Given the description of an element on the screen output the (x, y) to click on. 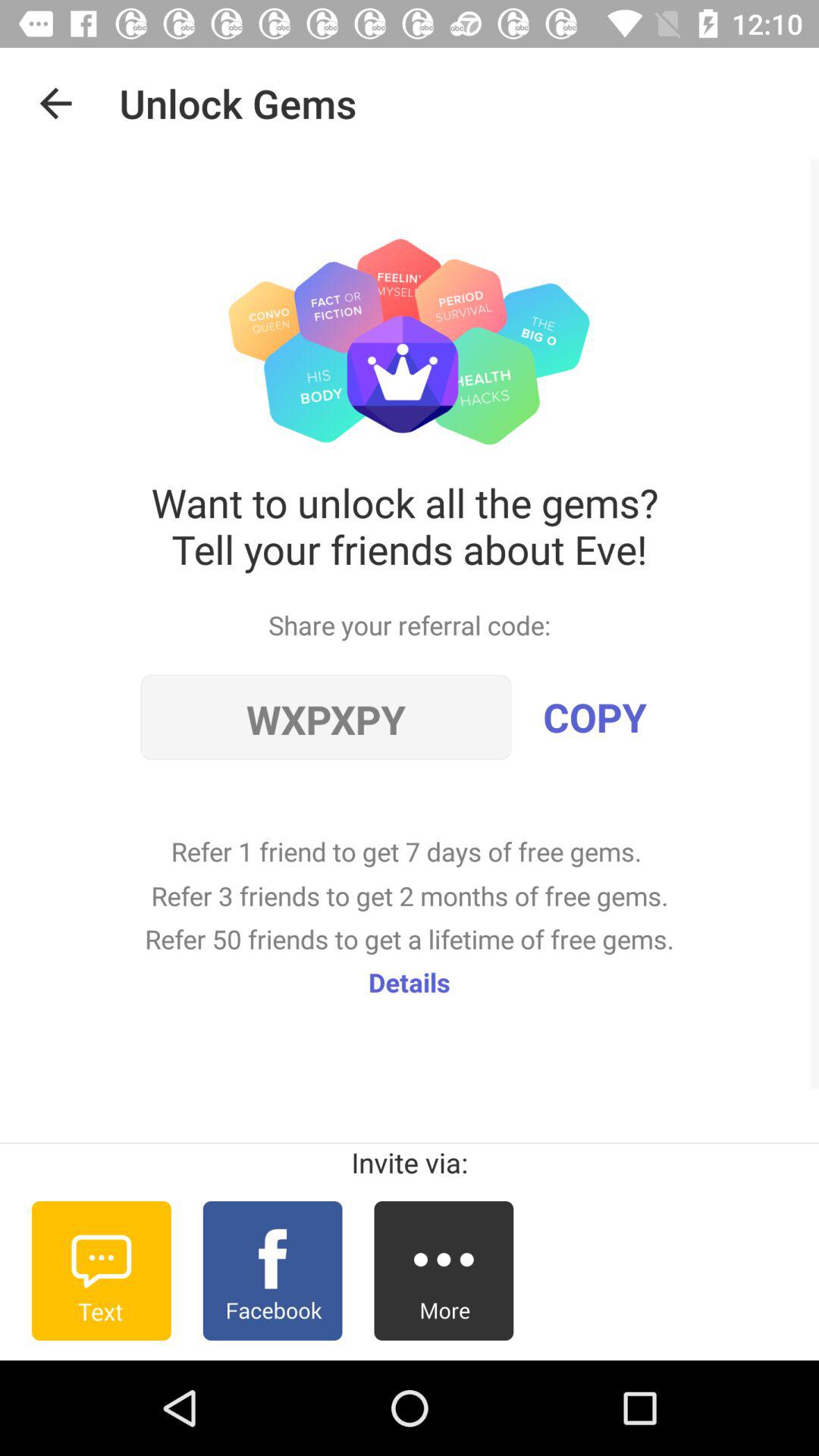
choose item below the refer 1 friend icon (409, 981)
